Given the description of an element on the screen output the (x, y) to click on. 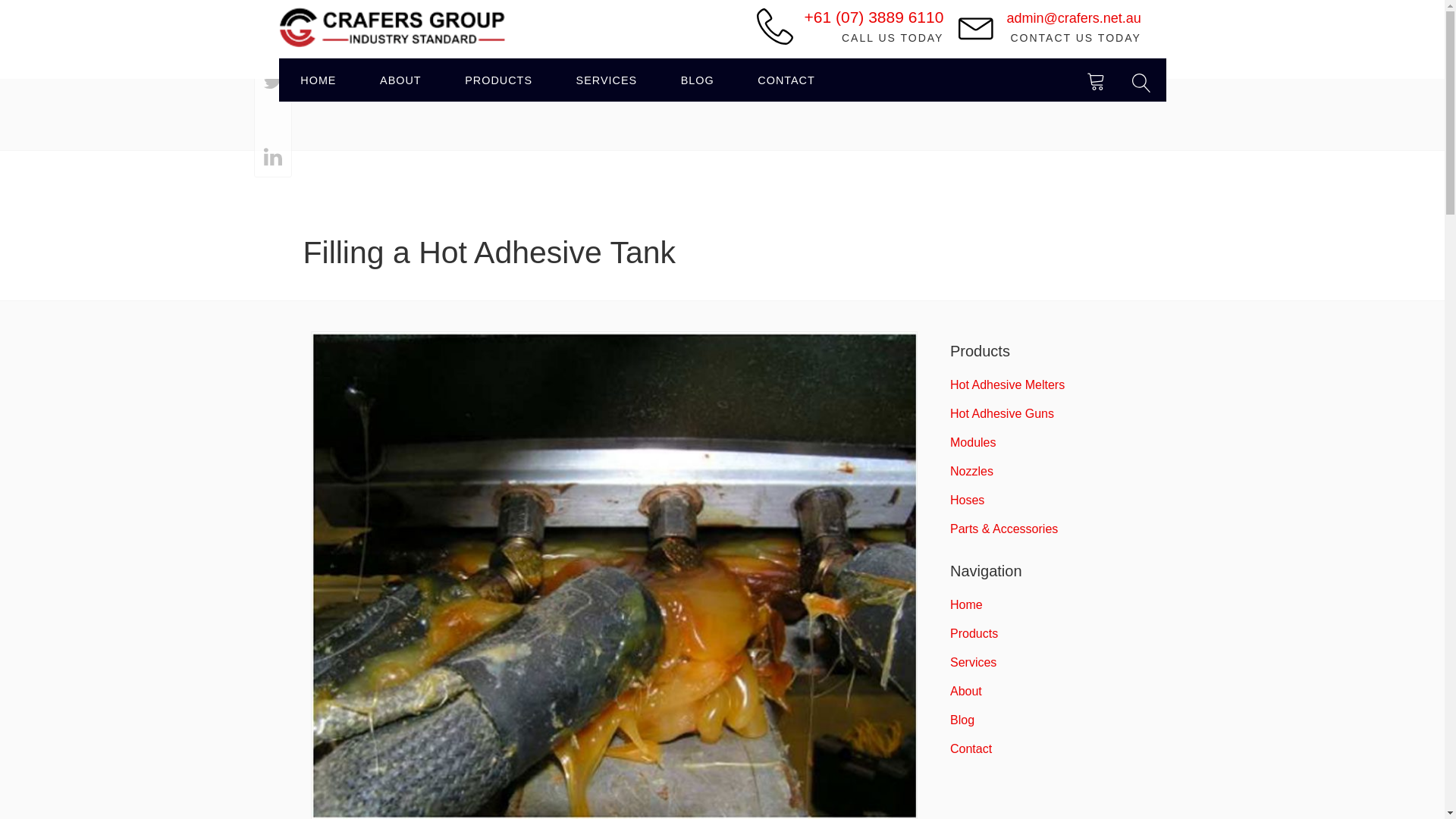
ABOUT (400, 78)
PRODUCTS (497, 78)
Contact (786, 78)
CONTACT (786, 78)
About (400, 78)
BLOG (697, 78)
Share on Twitter (272, 81)
Share on Facebook (272, 44)
Blog (697, 78)
SERVICES (606, 78)
